Given the description of an element on the screen output the (x, y) to click on. 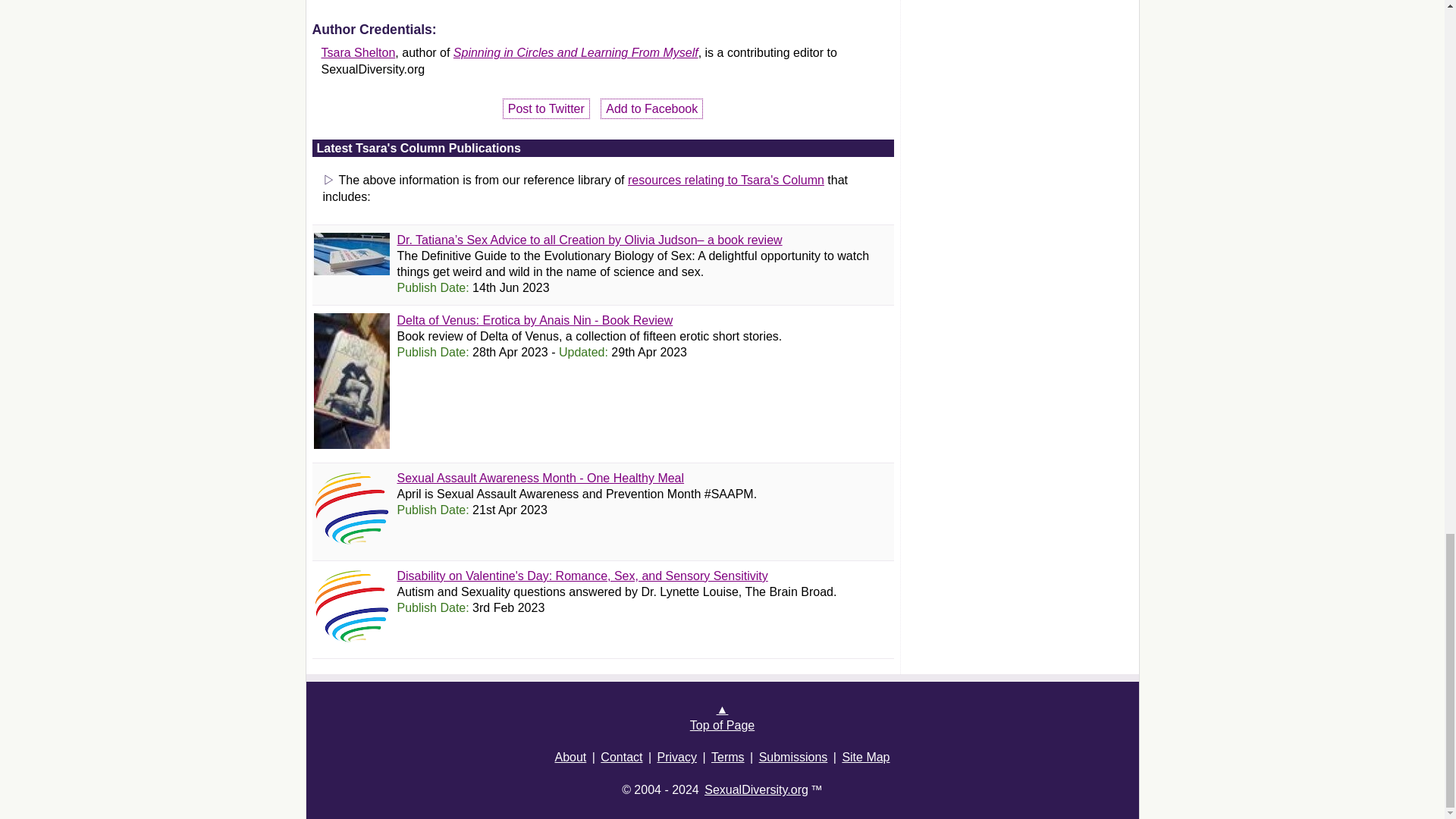
resources relating to Tsara's Column (725, 179)
Delta of Venus: Erotica by Anais Nin - Book Review (534, 319)
Tsara Shelton (358, 51)
Sexual Assault Awareness Month - One Healthy Meal (540, 477)
Post to Twitter (545, 108)
Spinning in Circles and Learning From Myself (575, 51)
Add to Facebook (651, 108)
